Given the description of an element on the screen output the (x, y) to click on. 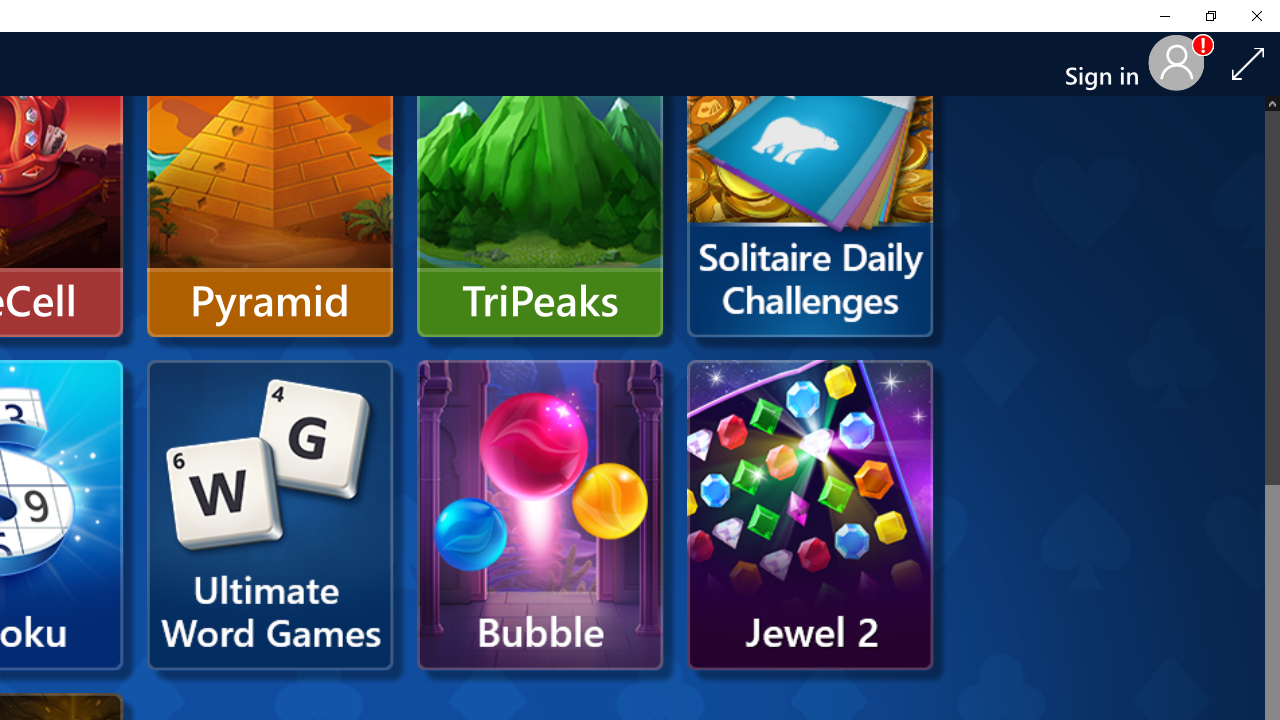
Sign in (1109, 64)
Microsoft UWG (269, 515)
Close Solitaire & Casual Games (1256, 15)
AutomationID: up_arrow_0 (1272, 102)
Minimize Solitaire & Casual Games (1164, 15)
Challenges (810, 181)
TriPeaks (540, 181)
Pyramid (269, 181)
Microsoft Bubble (540, 515)
Microsoft Jewel 2 (810, 515)
Restore Solitaire & Casual Games (1210, 15)
Full Screen View (1248, 63)
